Given the description of an element on the screen output the (x, y) to click on. 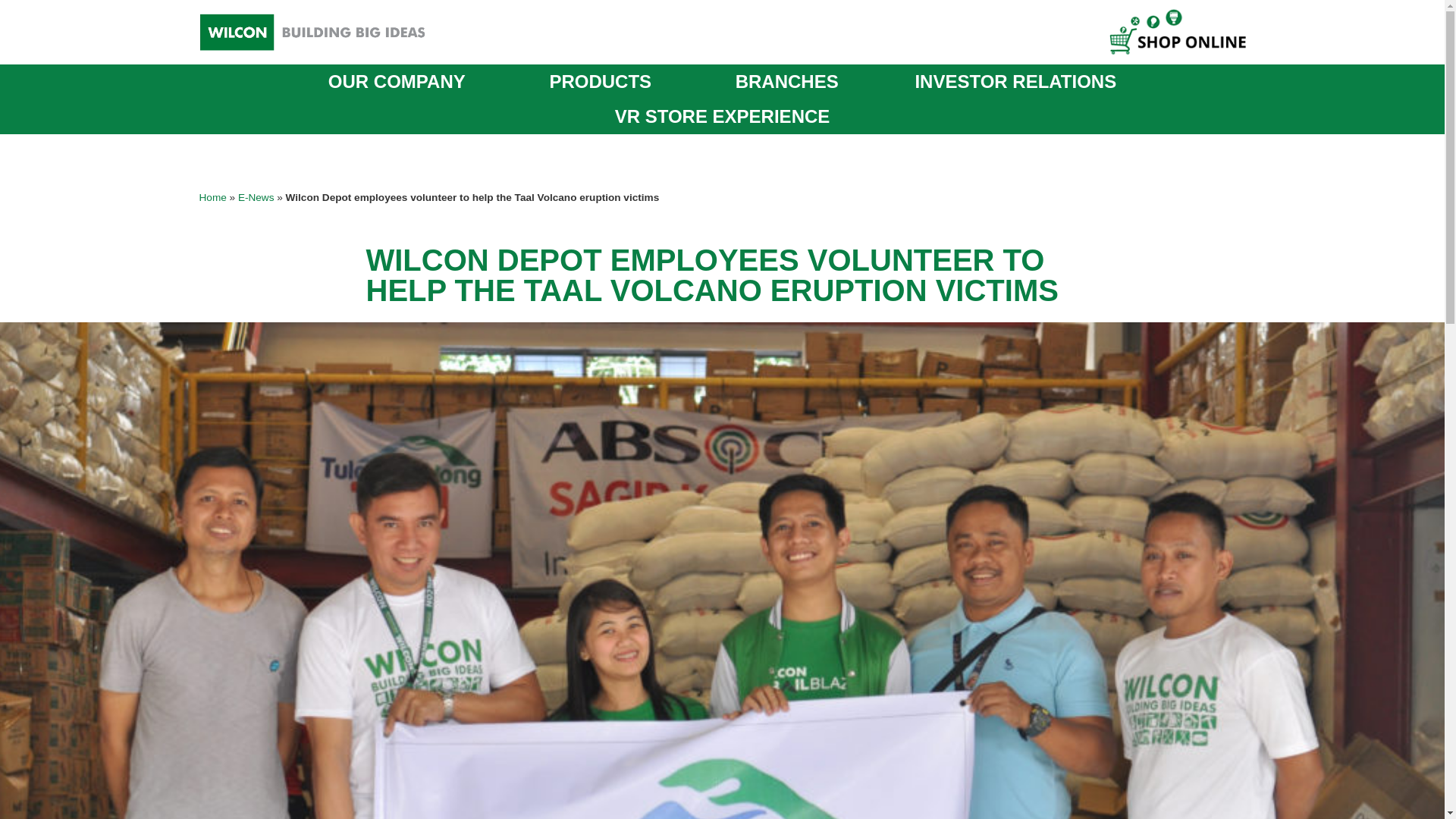
OUR COMPANY (400, 81)
VR STORE EXPERIENCE (721, 116)
BRANCHES (786, 81)
PRODUCTS (604, 81)
Home (211, 197)
INVESTOR RELATIONS (1015, 81)
E-News (256, 197)
